Given the description of an element on the screen output the (x, y) to click on. 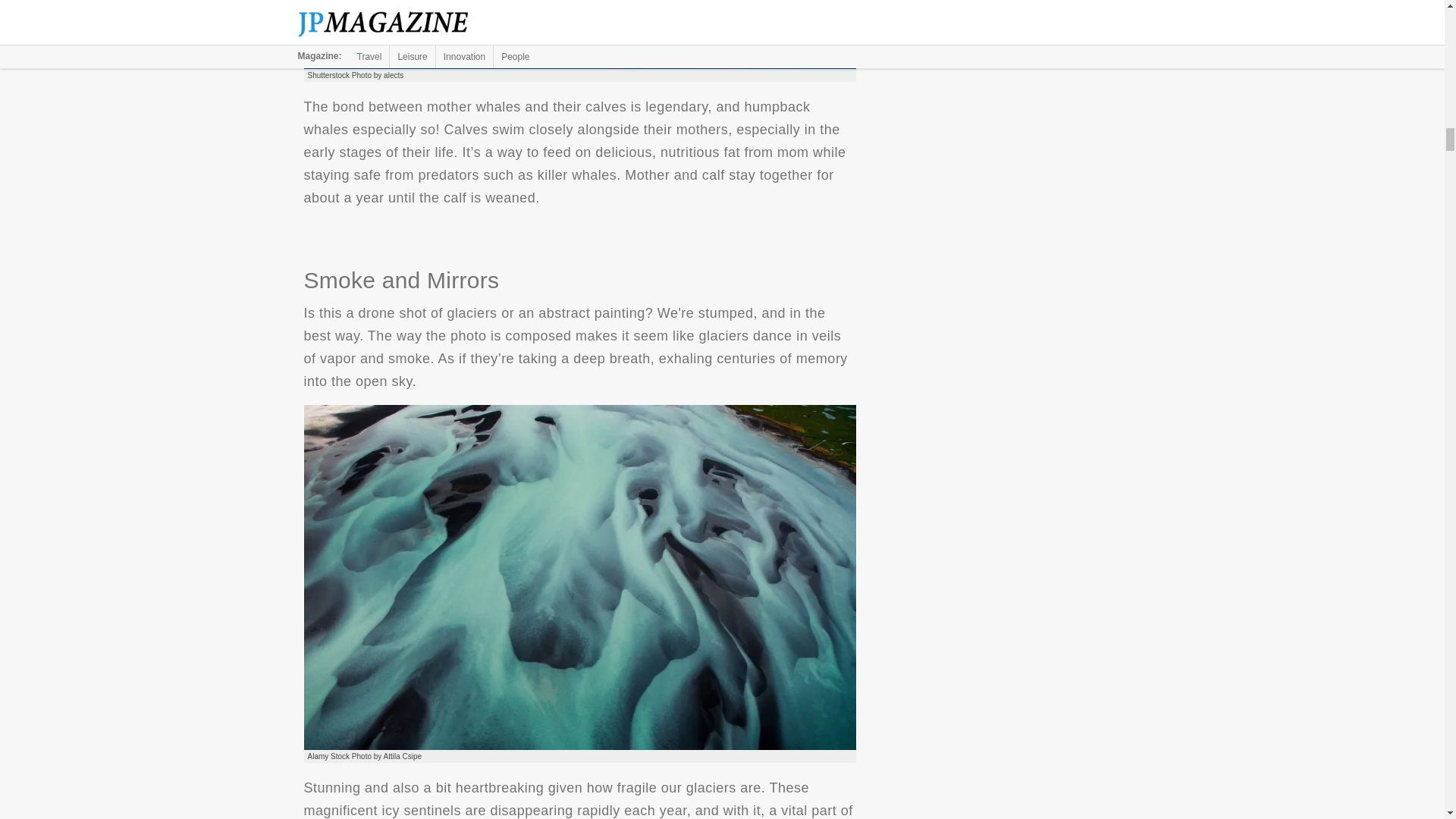
Maternal Giants of the Deep (579, 34)
